Given the description of an element on the screen output the (x, y) to click on. 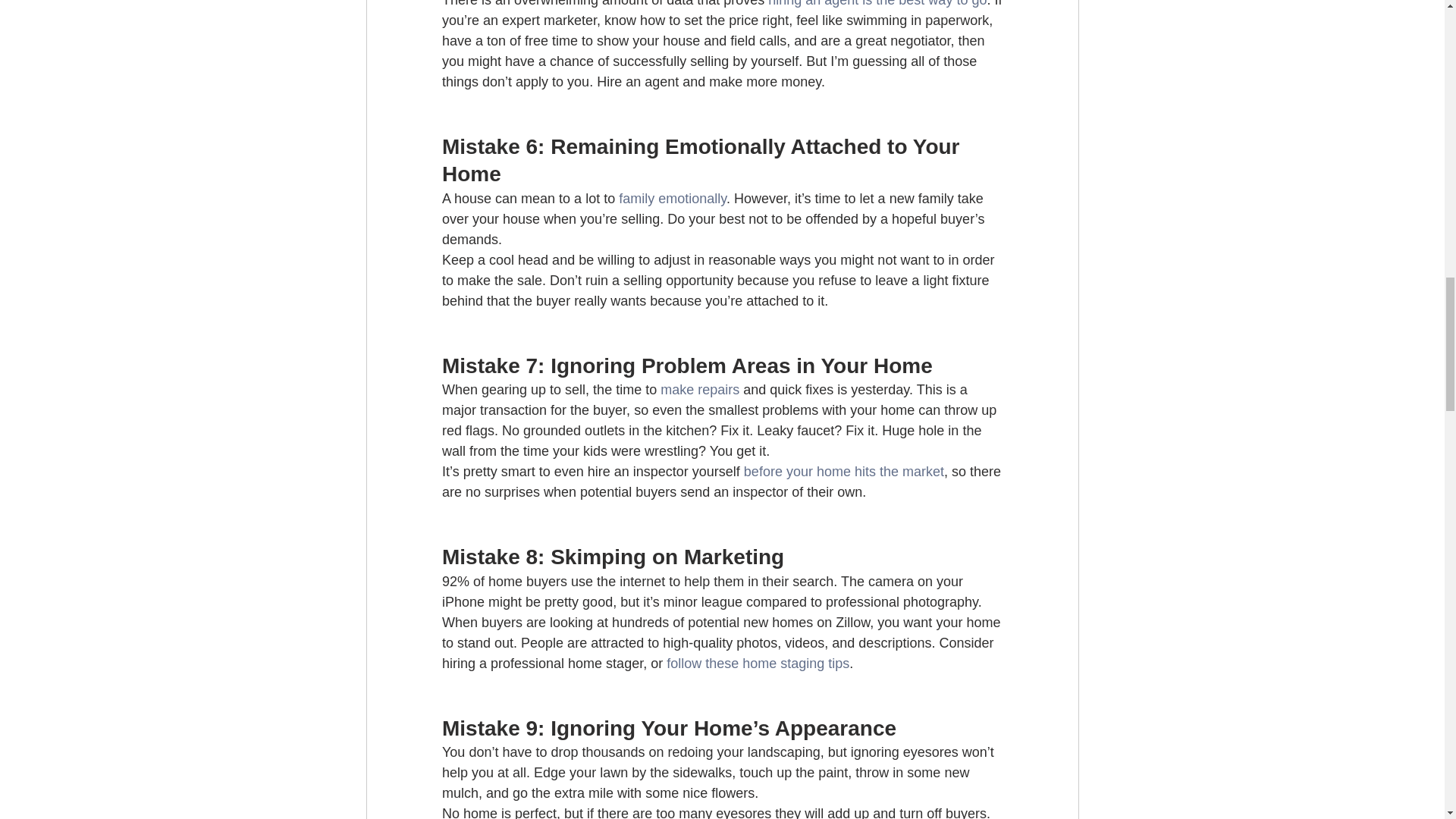
make repairs (700, 389)
hiring an agent is the best way to go (877, 3)
follow these home staging tips (757, 663)
family emotionally (672, 198)
before your home hits the market (842, 471)
